Given the description of an element on the screen output the (x, y) to click on. 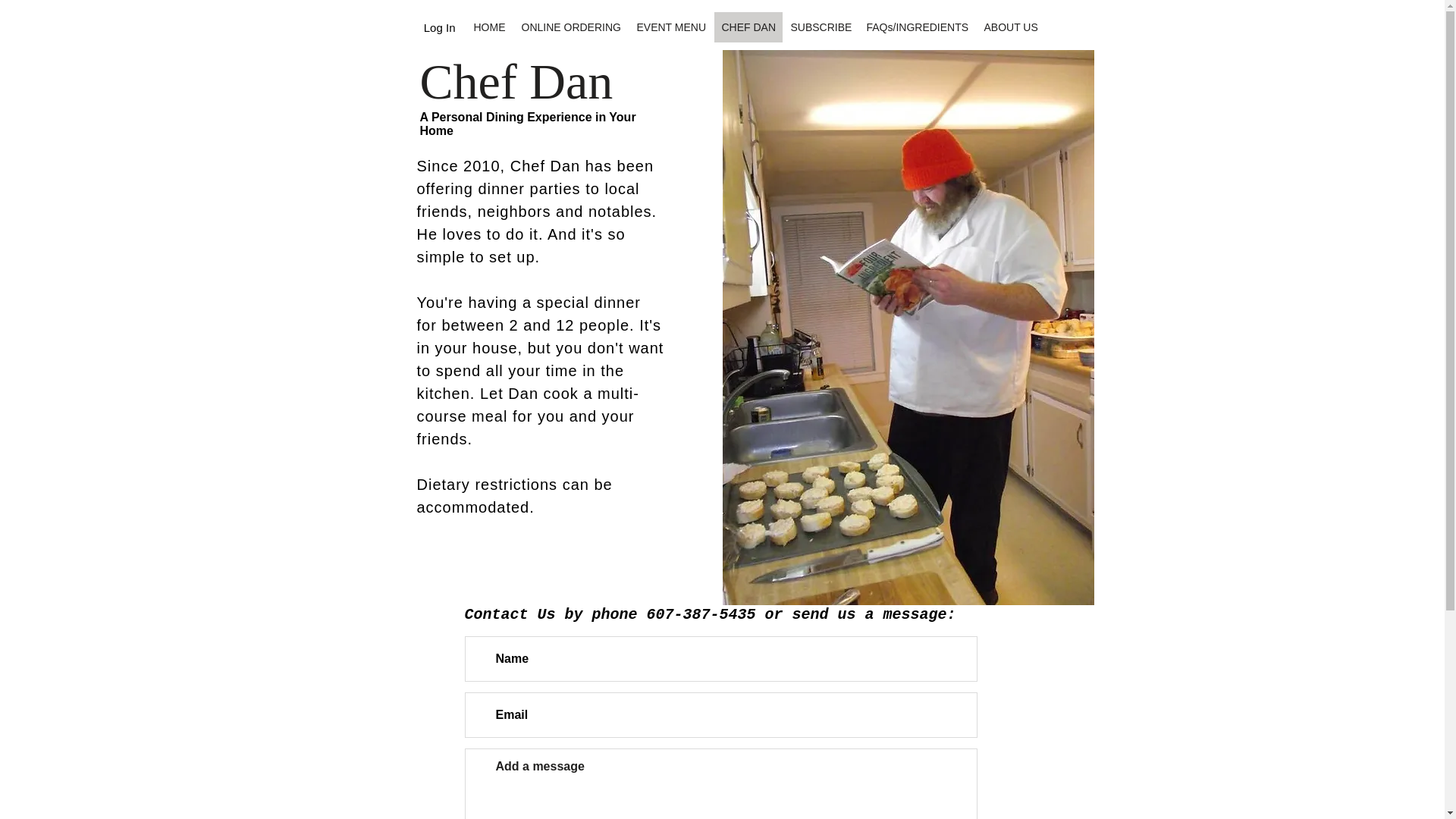
ONLINE ORDERING (569, 27)
ABOUT US (1010, 27)
Log In (439, 27)
SUBSCRIBE (821, 27)
HOME (488, 27)
CHEF DAN (747, 27)
EVENT MENU (670, 27)
